Given the description of an element on the screen output the (x, y) to click on. 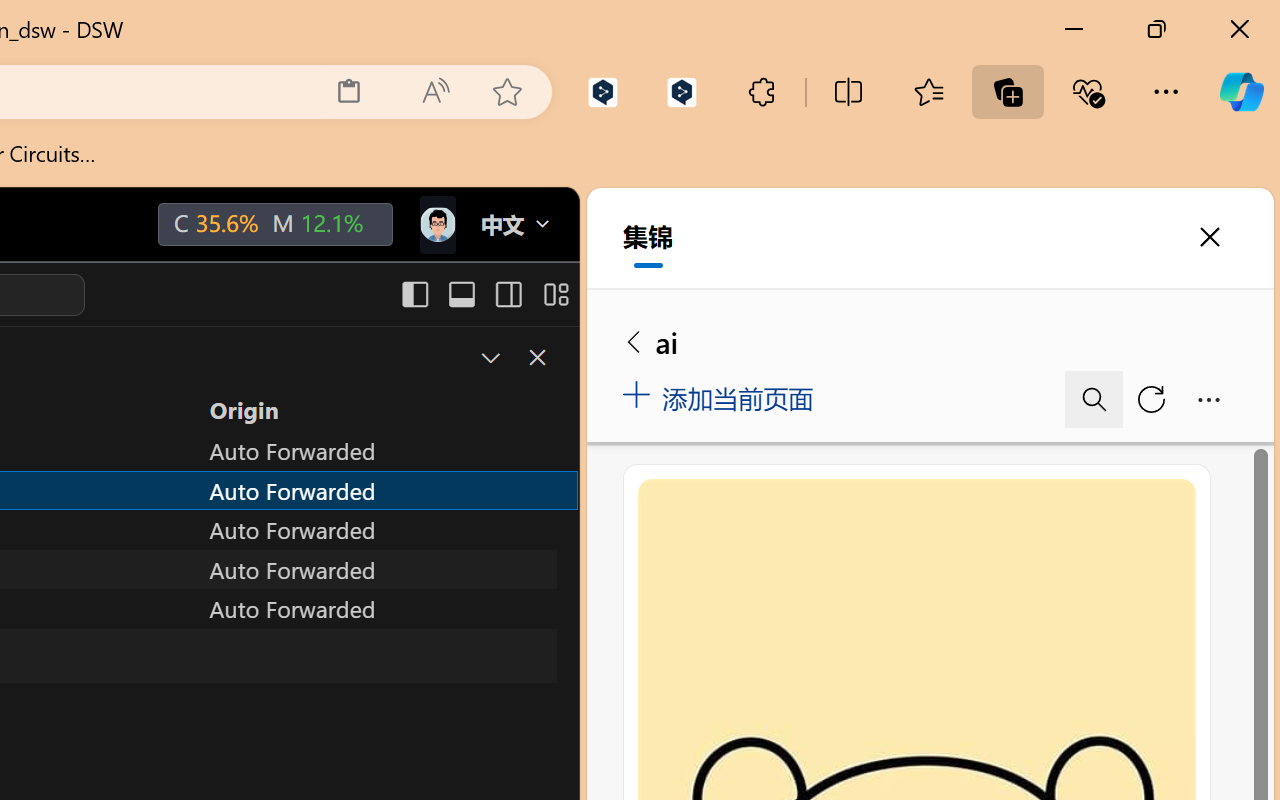
Toggle Panel (Ctrl+J) (461, 294)
Toggle Secondary Side Bar (Ctrl+Alt+B) (506, 294)
Class: next-menu next-hoz widgets--iconMenu--BFkiHRM (436, 225)
Restore Panel Size (488, 357)
Customize Layout... (553, 294)
